Given the description of an element on the screen output the (x, y) to click on. 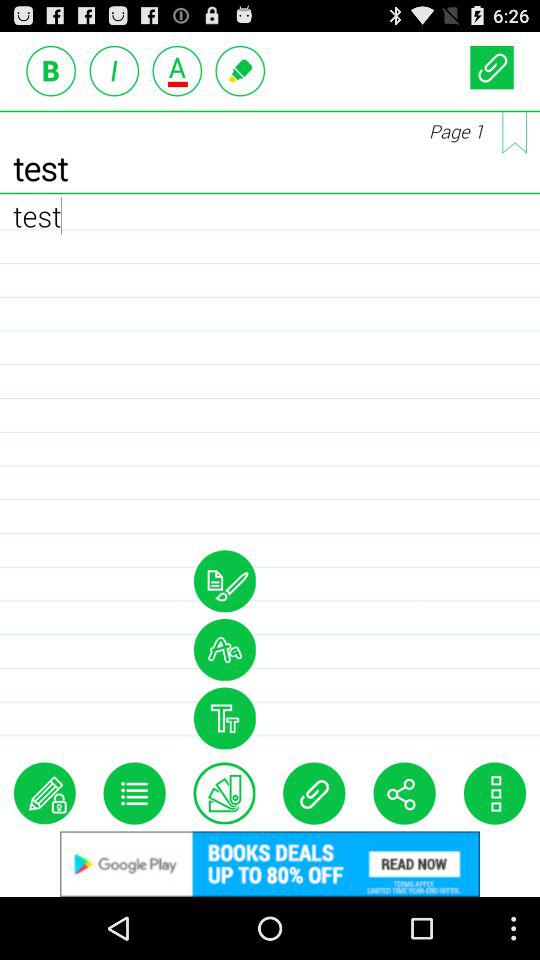
open handwriting tool (224, 581)
